Given the description of an element on the screen output the (x, y) to click on. 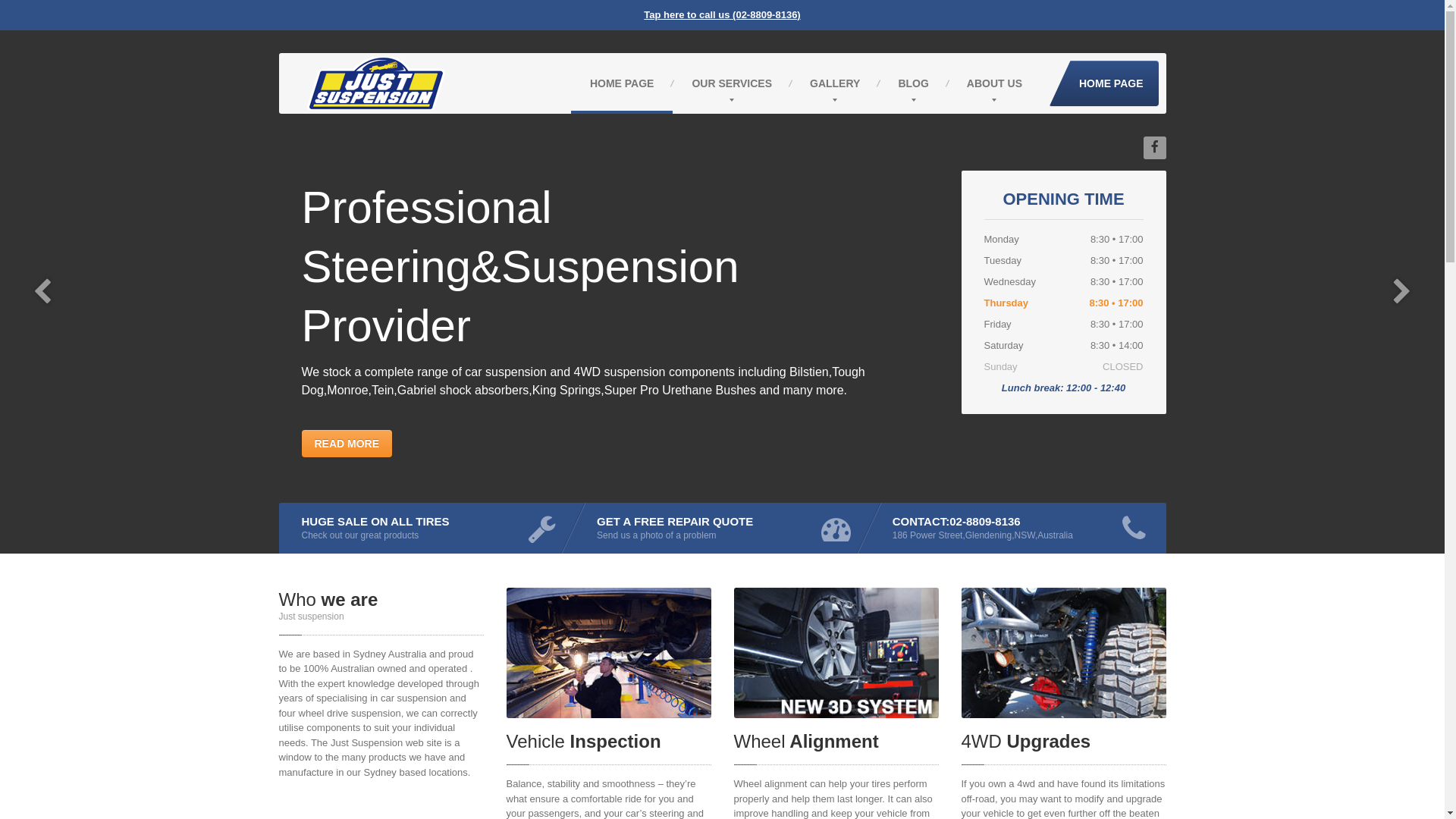
BLOG Element type: text (912, 83)
READ MORE Element type: text (346, 442)
GET A FREE REPAIR QUOTE
Send us a photo of a problem Element type: text (721, 527)
HUGE SALE ON ALL TIRES
Check out our great products Element type: text (426, 527)
OUR SERVICES Element type: text (731, 83)
HOME PAGE Element type: text (1103, 83)
HOME PAGE Element type: text (622, 83)
Tap here to call us (02-8809-8136) Element type: text (722, 15)
ABOUT US Element type: text (994, 83)
GALLERY Element type: text (834, 83)
